Given the description of an element on the screen output the (x, y) to click on. 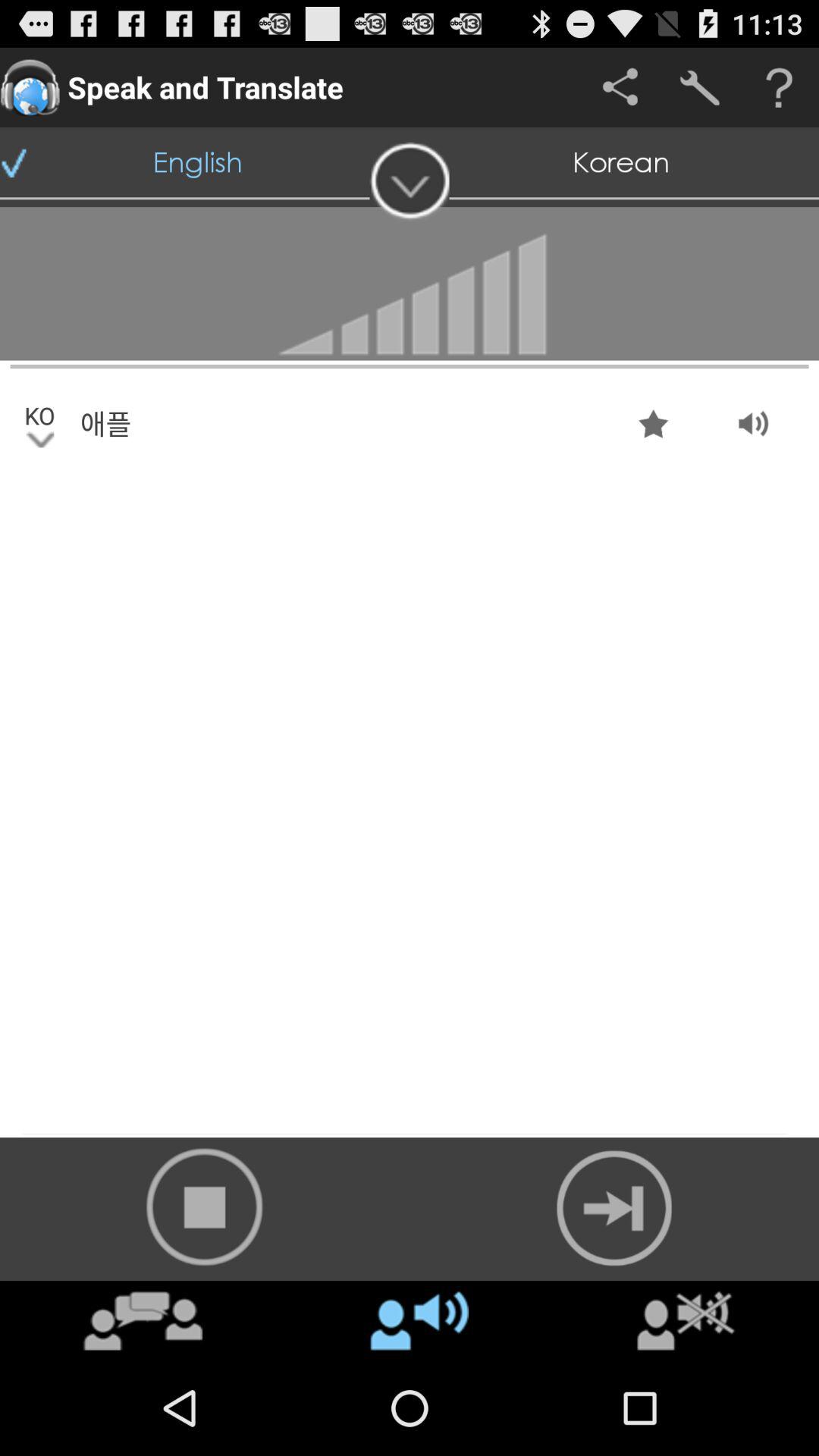
stop audio (204, 1206)
